Given the description of an element on the screen output the (x, y) to click on. 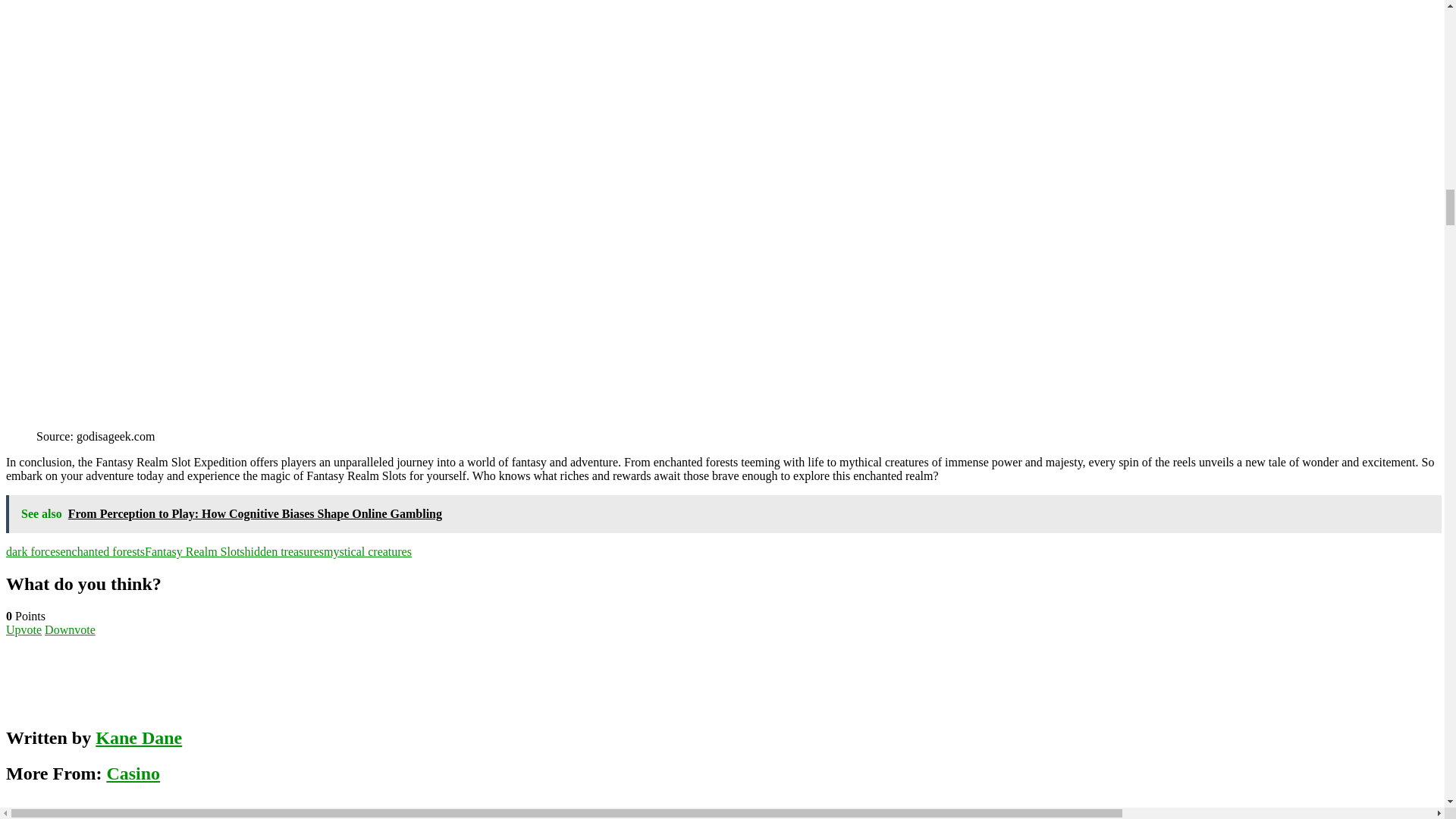
dark forces (33, 551)
enchanted forests (103, 551)
Downvote (70, 629)
Upvote (23, 629)
